Given the description of an element on the screen output the (x, y) to click on. 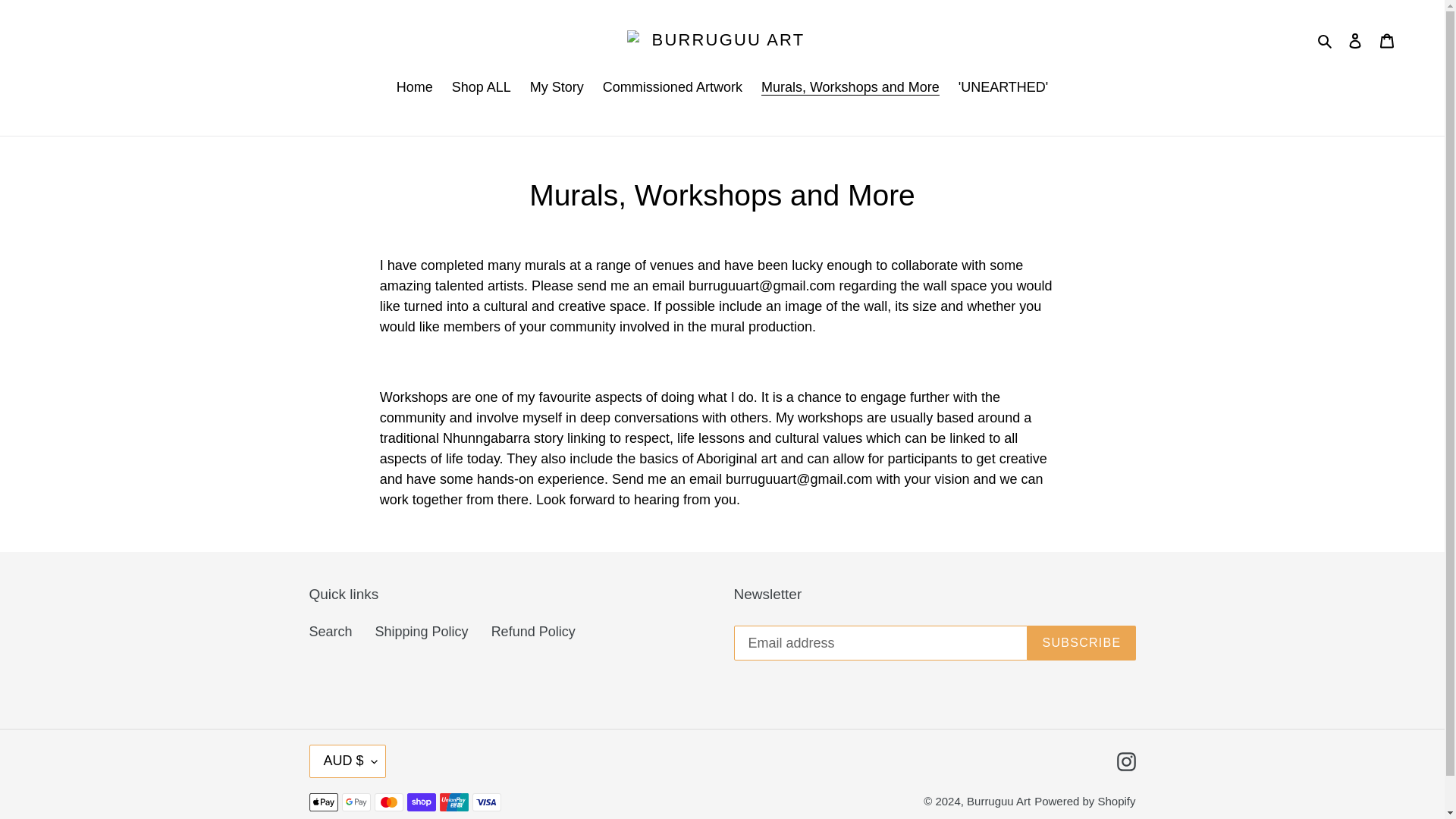
Murals, Workshops and More (850, 87)
Log in (1355, 40)
My Story (556, 87)
Search (330, 631)
Shop ALL (481, 87)
Commissioned Artwork (672, 87)
Cart (1387, 40)
Refund Policy (533, 631)
Home (414, 87)
SUBSCRIBE (1081, 642)
Shipping Policy (421, 631)
Search (1326, 40)
'UNEARTHED' (1003, 87)
